Given the description of an element on the screen output the (x, y) to click on. 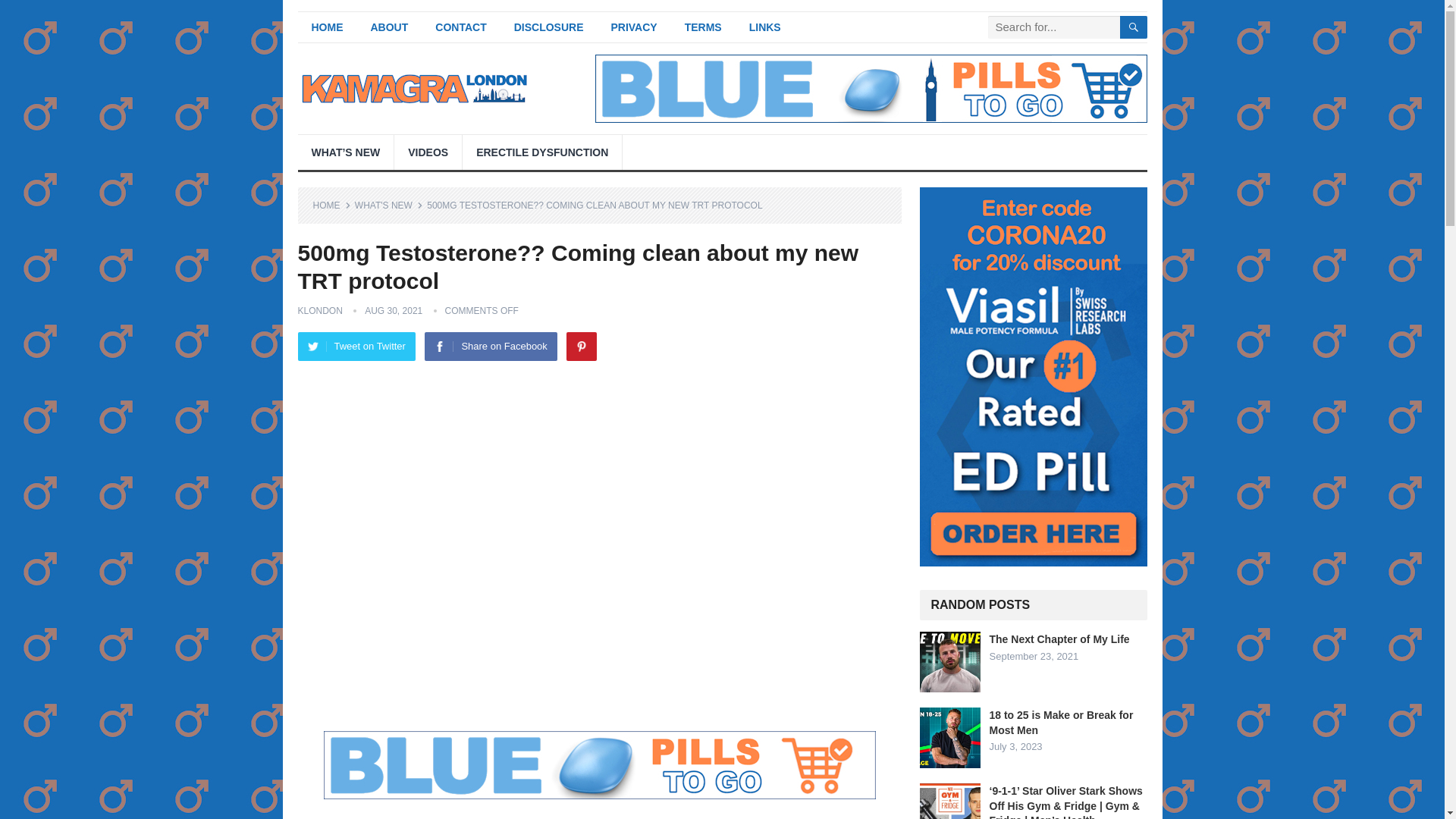
ERECTILE DYSFUNCTION (542, 152)
View all posts in What's New (389, 204)
WHAT'S NEW (389, 204)
Share on Facebook (490, 346)
TERMS (703, 27)
ABOUT (389, 27)
DISCLOSURE (548, 27)
HOME (326, 27)
18 to 25 is Make or Break for Most Men 14 (948, 737)
Pinterest (581, 346)
Tweet on Twitter (355, 346)
Posts by KLondon (319, 310)
LINKS (764, 27)
KLONDON (319, 310)
PRIVACY (632, 27)
